Given the description of an element on the screen output the (x, y) to click on. 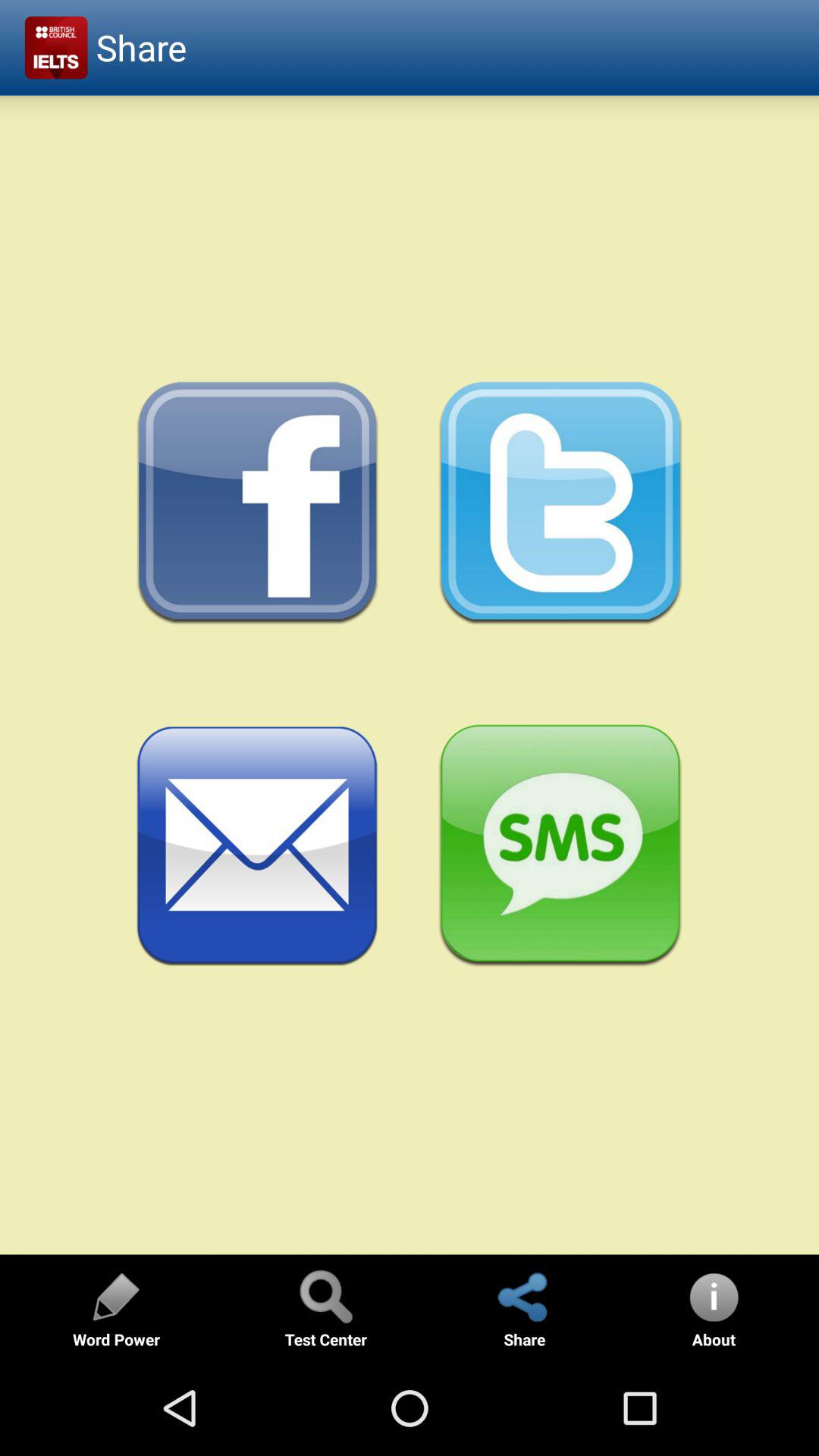
find (325, 1296)
